Given the description of an element on the screen output the (x, y) to click on. 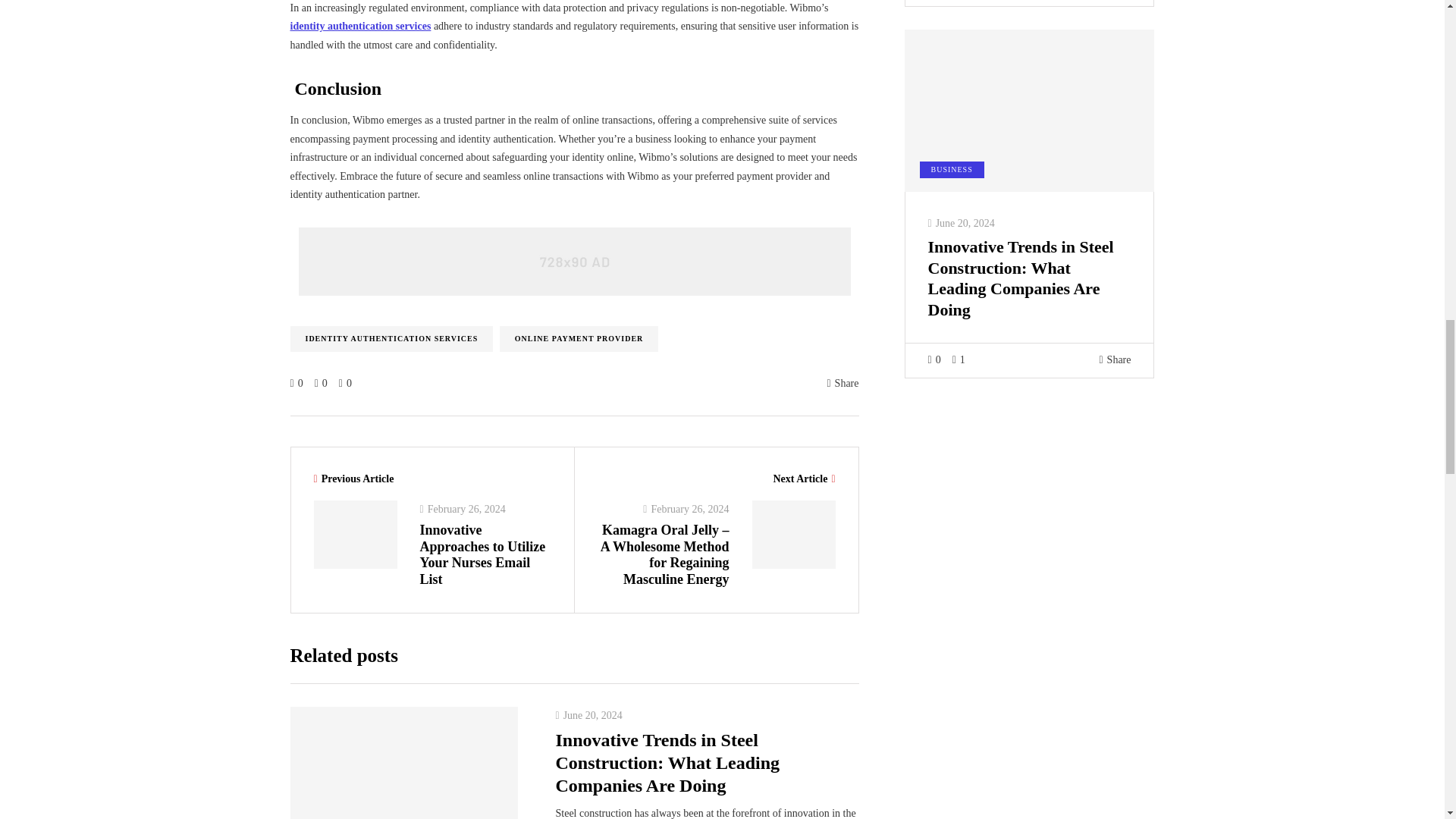
identity authentication services (359, 25)
